Given the description of an element on the screen output the (x, y) to click on. 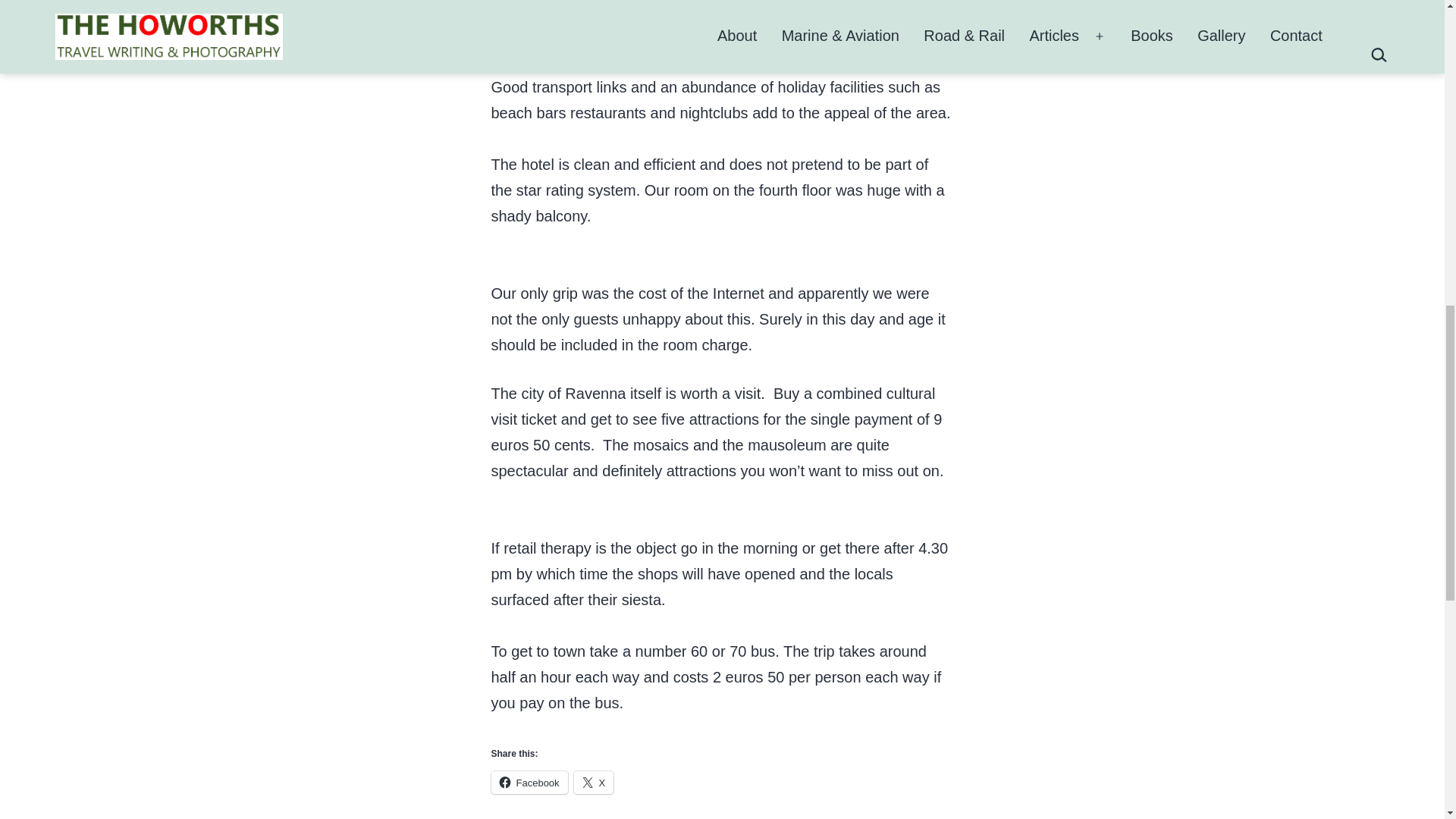
Click to share on X (593, 782)
X (593, 782)
Click to share on Facebook (529, 782)
Facebook (529, 782)
